Given the description of an element on the screen output the (x, y) to click on. 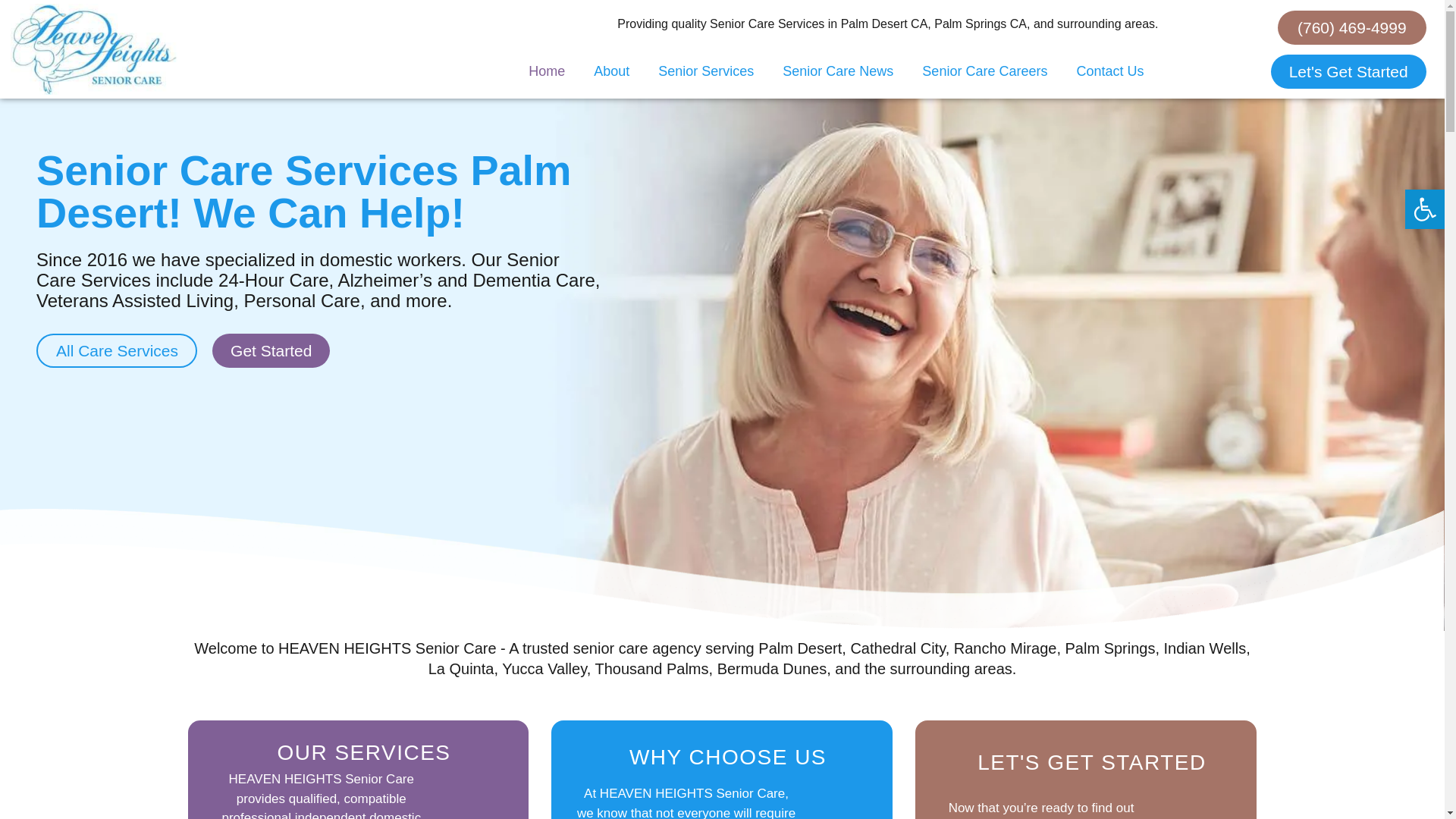
Senior Care Careers (984, 70)
Contact Us (1109, 70)
Let's Get Started (1348, 71)
Senior Care News (837, 70)
About (611, 70)
Home (546, 70)
Accessibility Tools (1424, 209)
Senior Services (705, 70)
